Given the description of an element on the screen output the (x, y) to click on. 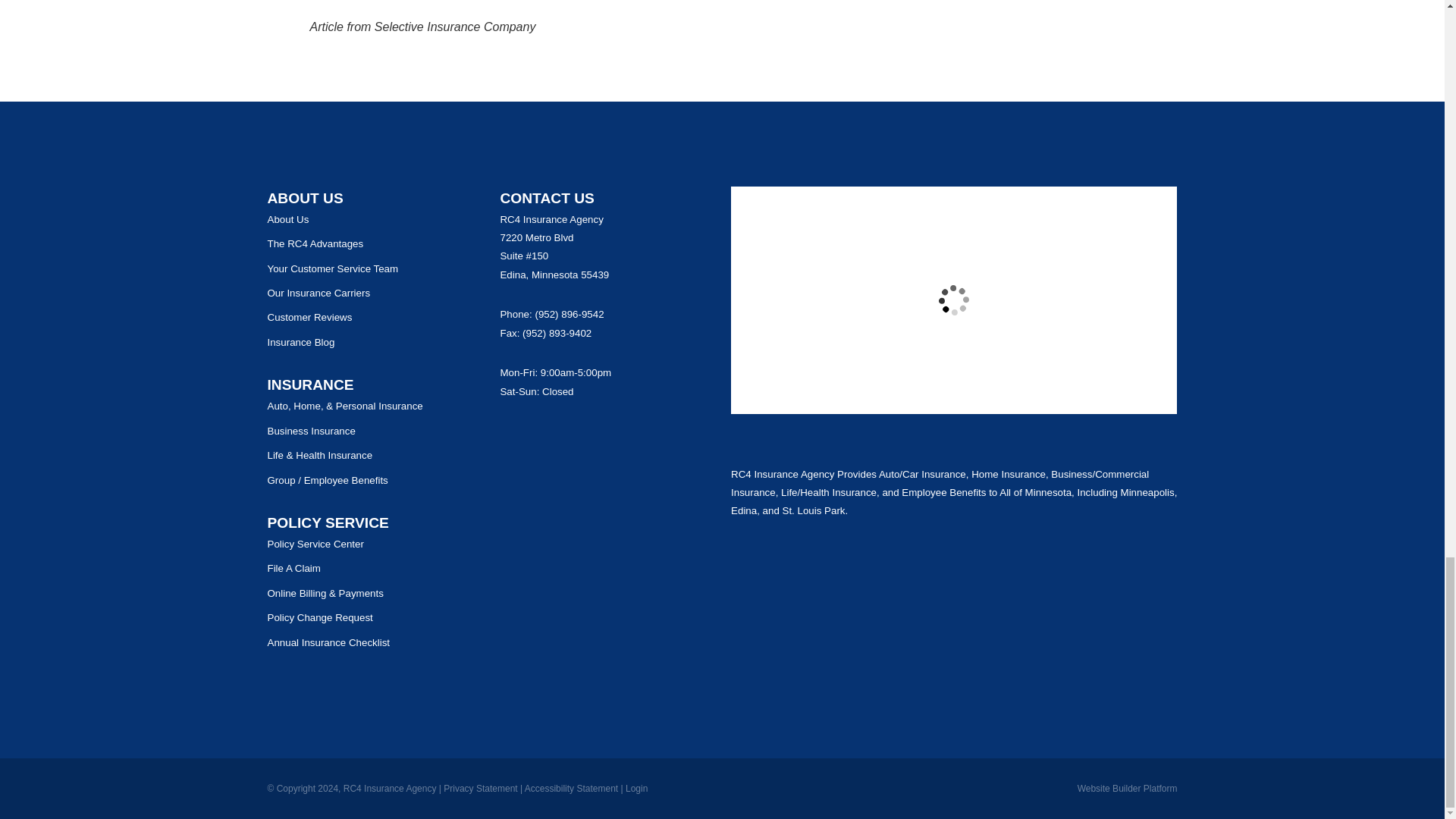
X (586, 433)
Yelp (535, 433)
Google Maps (509, 433)
LinkedIn (612, 433)
Facebook (561, 433)
